Given the description of an element on the screen output the (x, y) to click on. 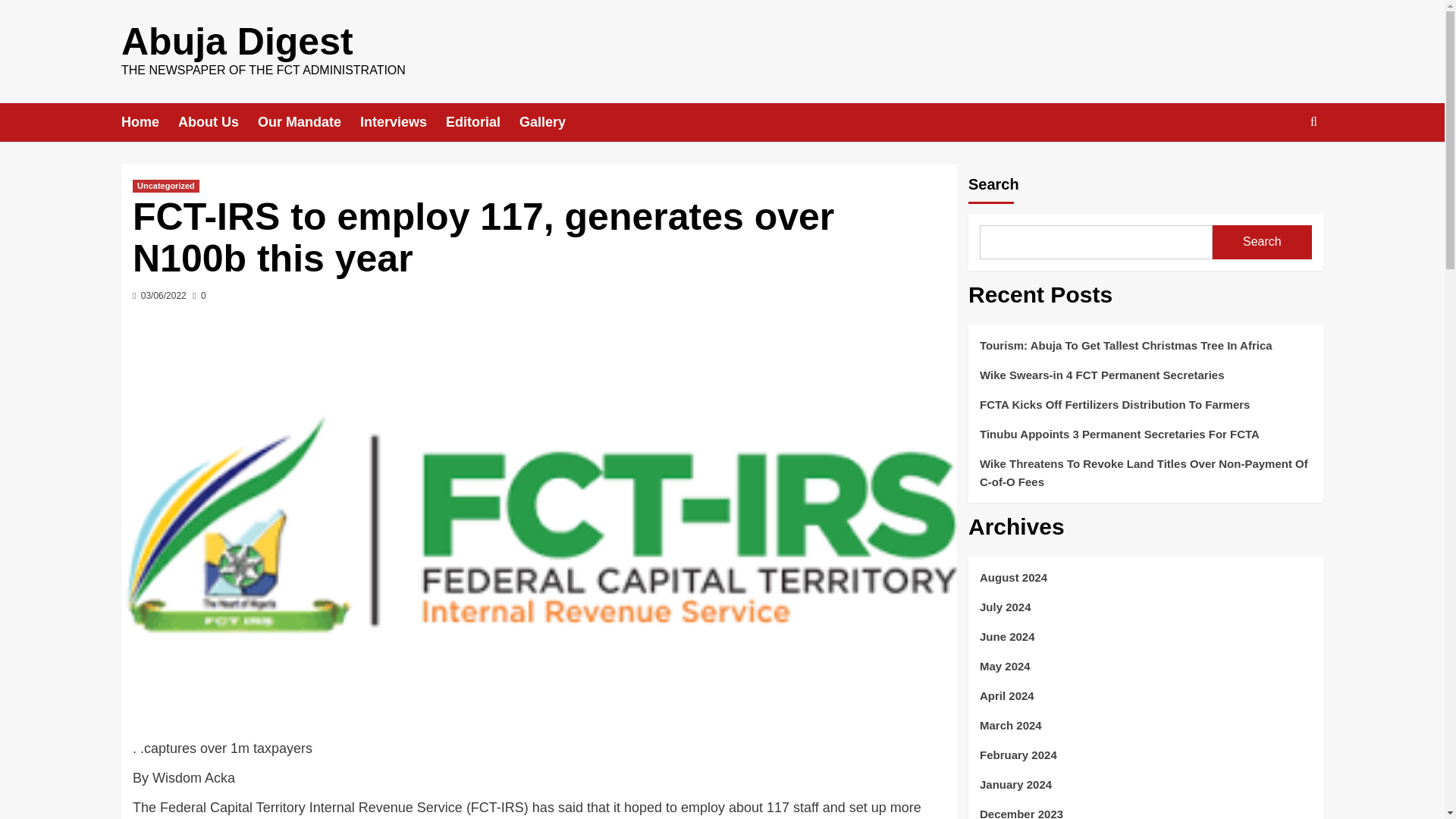
Search (1278, 168)
Wike Swears-in 4 FCT Permanent Secretaries (1145, 380)
Home (148, 122)
Uncategorized (165, 185)
Gallery (552, 122)
Editorial (482, 122)
Interviews (402, 122)
August 2024 (1145, 583)
Our Mandate (308, 122)
FCTA Kicks Off Fertilizers Distribution To Farmers  (1145, 410)
